Given the description of an element on the screen output the (x, y) to click on. 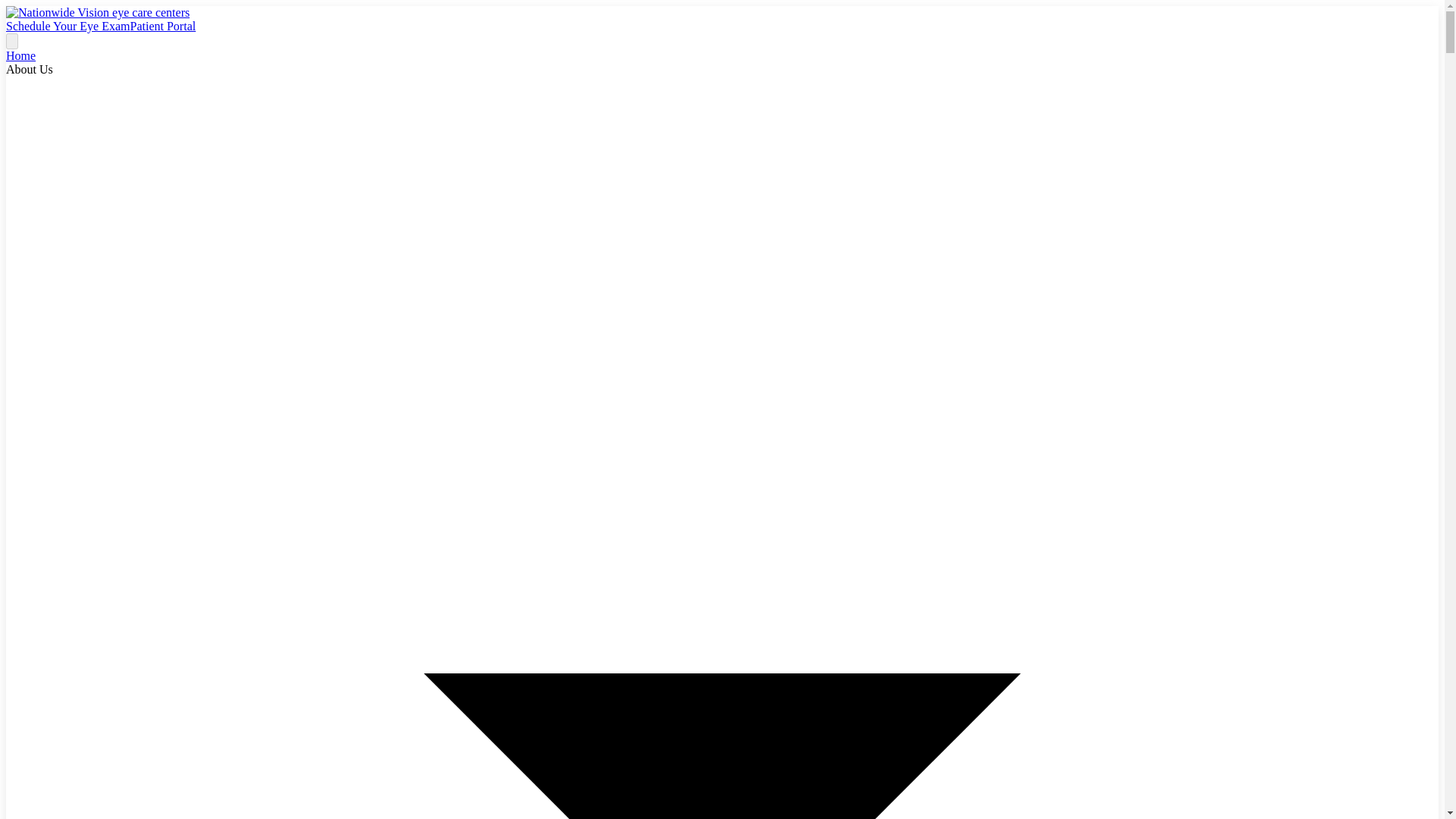
Schedule Your Eye Exam (68, 25)
Patient Portal (163, 25)
Home (19, 55)
